Given the description of an element on the screen output the (x, y) to click on. 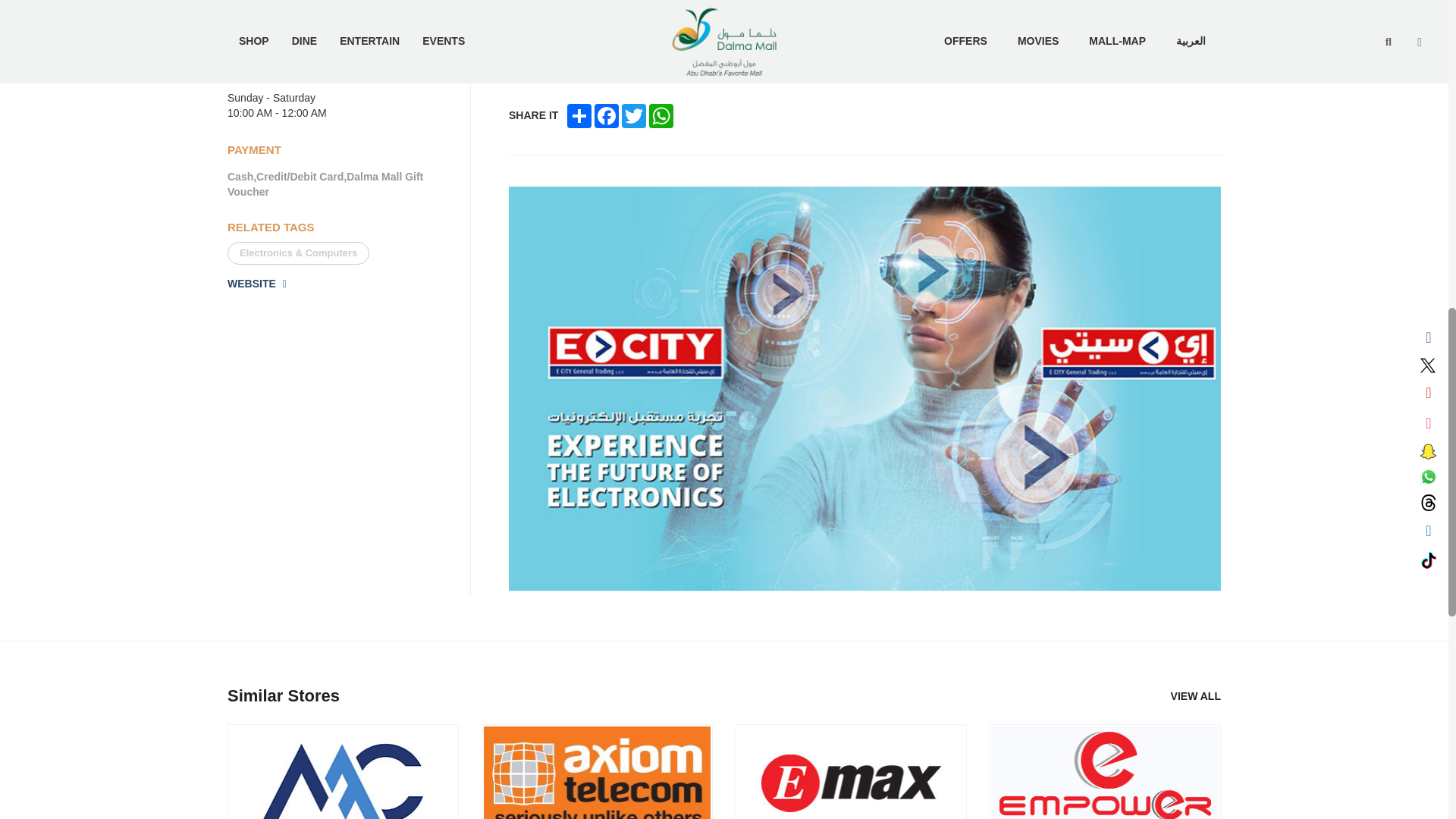
VIEW ALL (1195, 696)
FACEBOOK (606, 115)
TWITTER (633, 115)
WEBSITE (256, 283)
SHARE (579, 115)
WHATSAPP (661, 115)
